Given the description of an element on the screen output the (x, y) to click on. 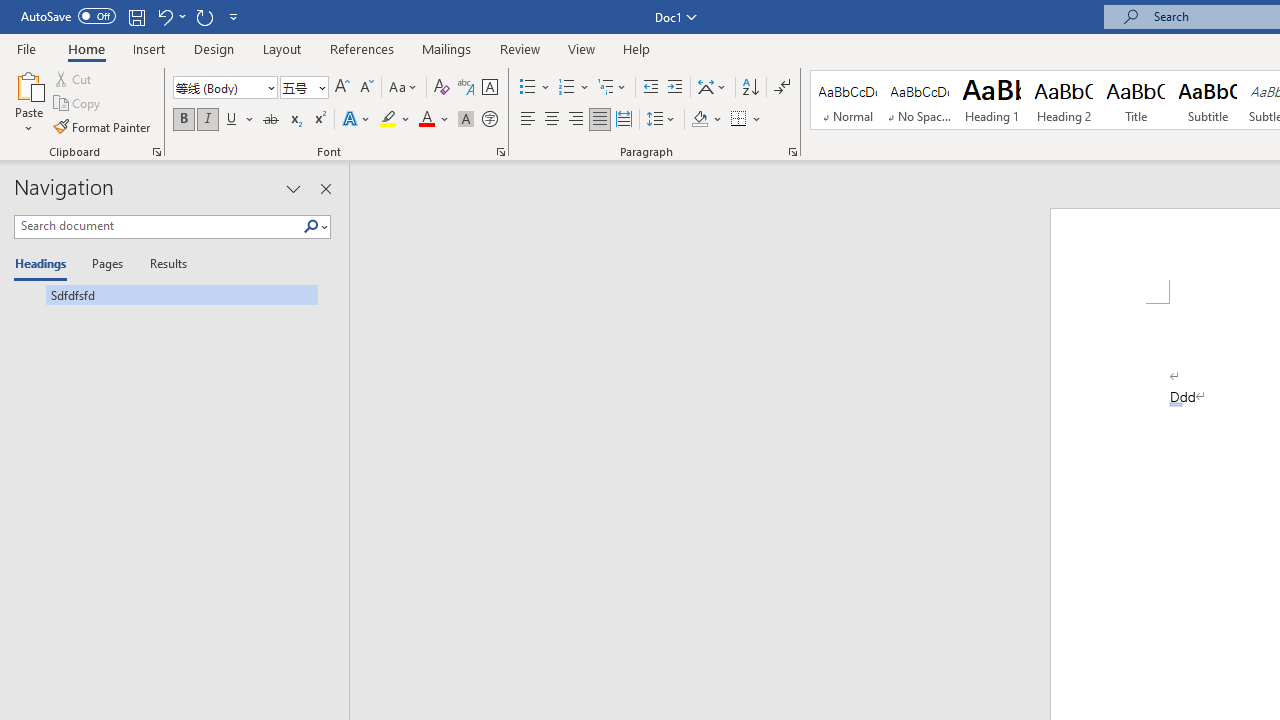
Enclose Characters... (489, 119)
Customize Quick Access Toolbar (234, 15)
Font Size (304, 87)
Strikethrough (270, 119)
Text Effects and Typography (357, 119)
Home (86, 48)
Review (520, 48)
Font Color (434, 119)
Design (214, 48)
Phonetic Guide... (465, 87)
Text Highlight Color Yellow (388, 119)
Paste (28, 102)
Copy (78, 103)
Grow Font (342, 87)
